Given the description of an element on the screen output the (x, y) to click on. 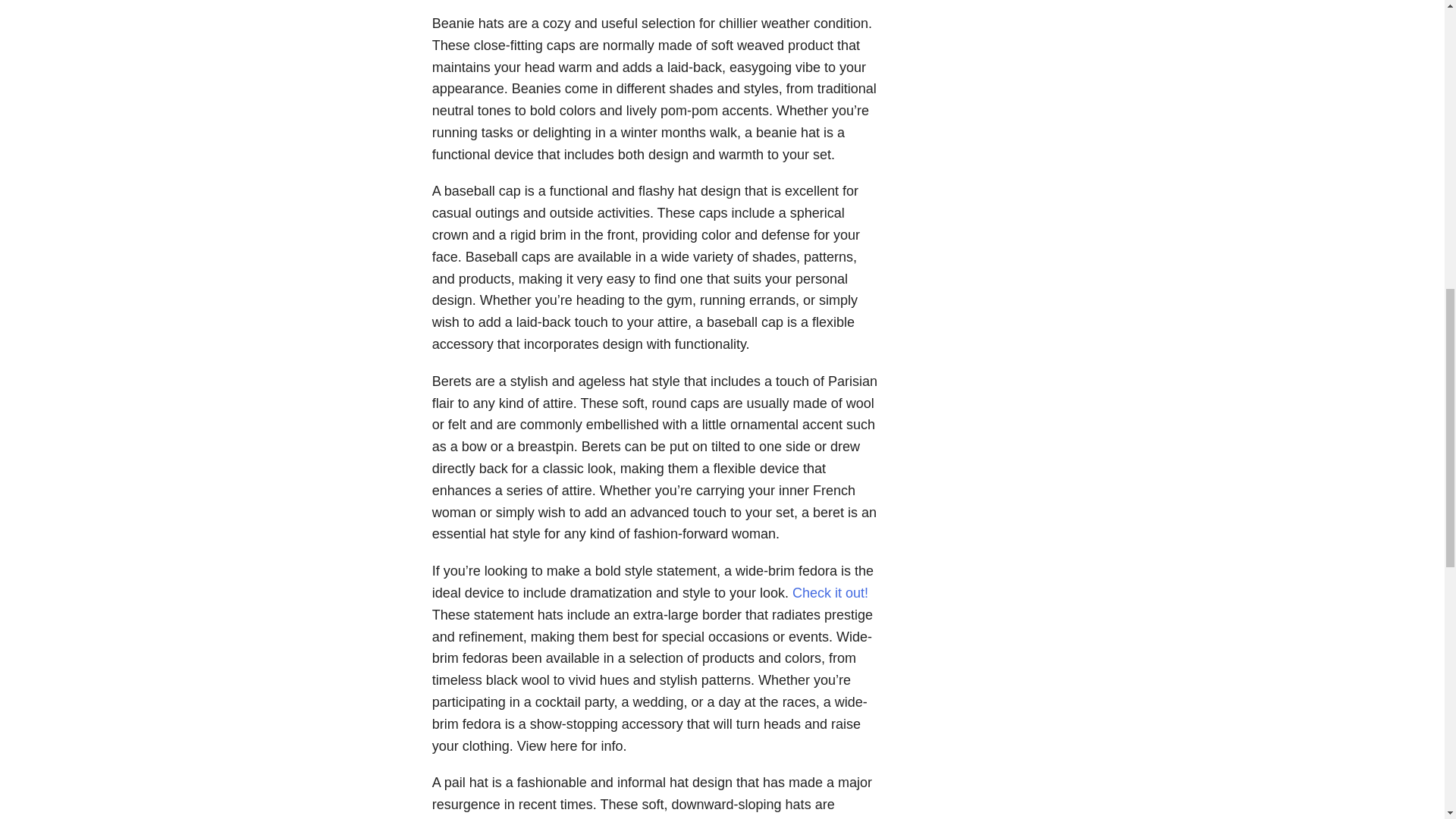
Check it out! (829, 592)
